Given the description of an element on the screen output the (x, y) to click on. 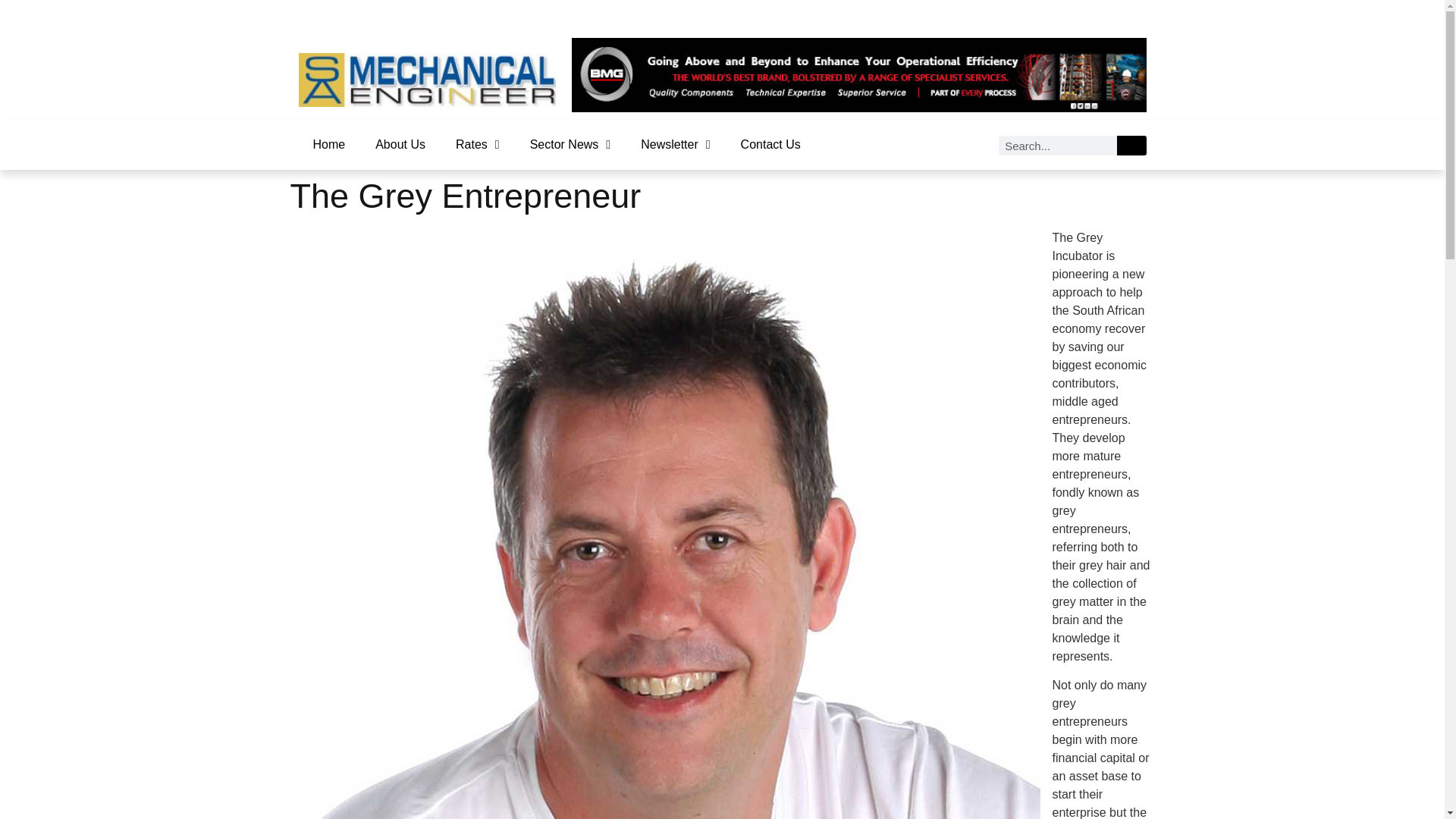
Rates (478, 144)
Newsletter (675, 144)
Sector News (570, 144)
About Us (400, 144)
Contact Us (770, 144)
Home (328, 144)
